Given the description of an element on the screen output the (x, y) to click on. 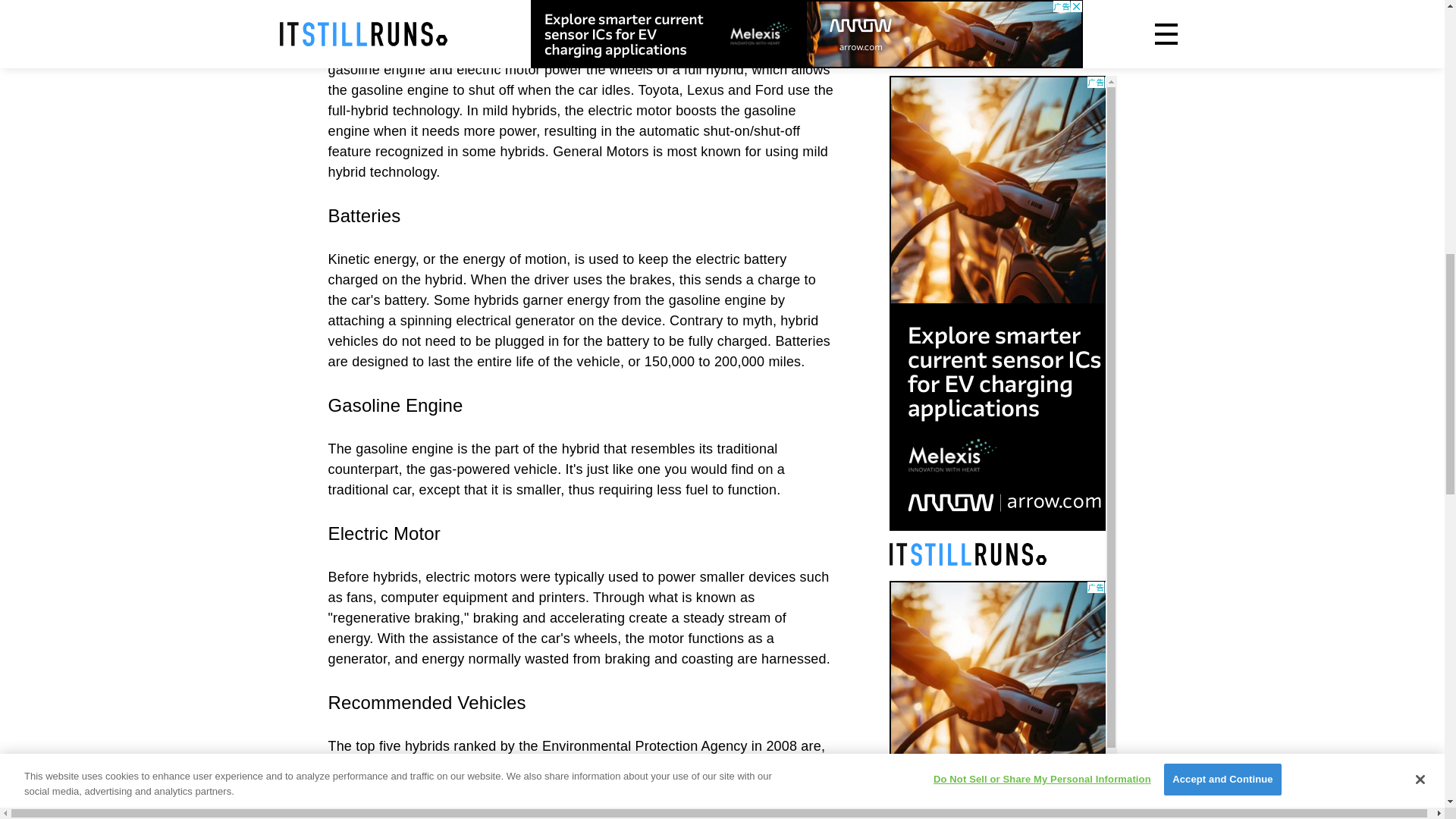
3rd party ad content (1002, 108)
